Given the description of an element on the screen output the (x, y) to click on. 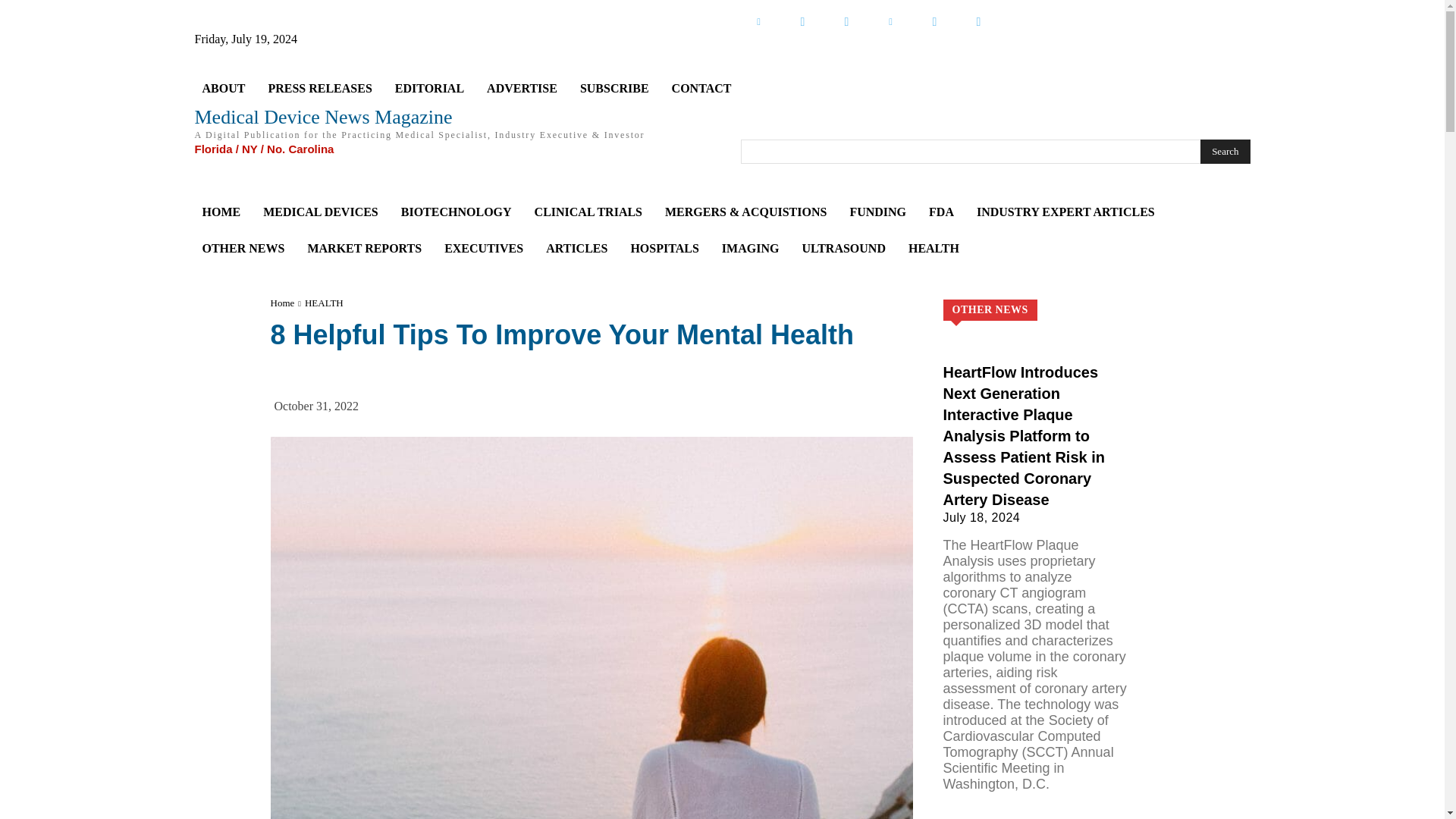
HOME (220, 212)
BIOTECHNOLOGY (456, 212)
CLINICAL TRIALS (588, 212)
EDITORIAL (429, 88)
Reddit (933, 22)
Search (1224, 151)
Pinterest (890, 22)
PRESS RELEASES (319, 88)
Instagram (977, 22)
Twitter (802, 22)
MEDICAL DEVICES (320, 212)
SUBSCRIBE (614, 88)
ABOUT (222, 88)
Facebook (846, 22)
LinkedIn (757, 22)
